Given the description of an element on the screen output the (x, y) to click on. 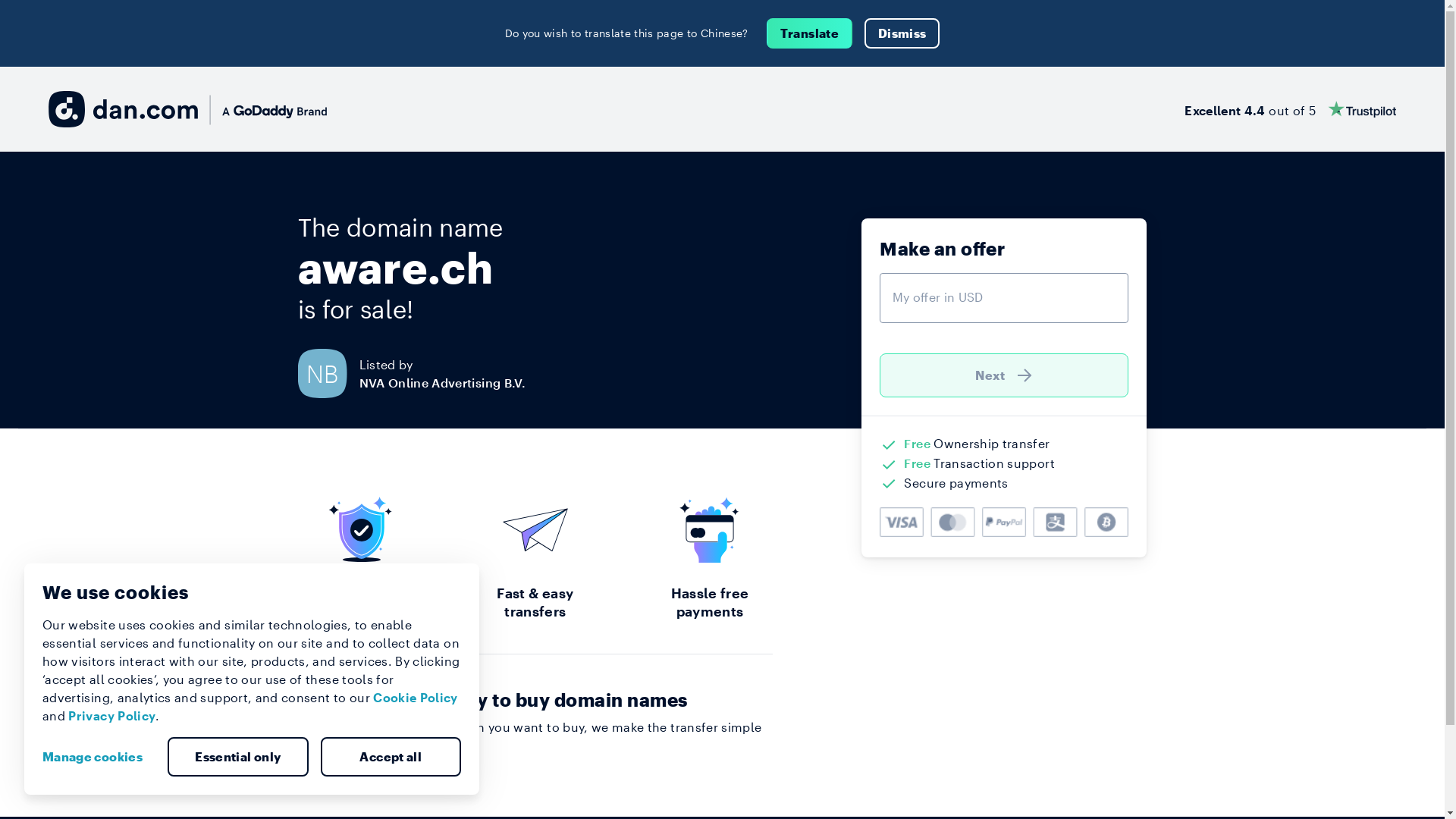
Cookie Policy Element type: text (415, 697)
Excellent 4.4 out of 5 Element type: text (1290, 109)
Manage cookies Element type: text (98, 756)
Translate Element type: text (809, 33)
Essential only Element type: text (237, 756)
Privacy Policy Element type: text (111, 715)
Accept all Element type: text (390, 756)
Dismiss Element type: text (901, 33)
Next
) Element type: text (1003, 375)
